Given the description of an element on the screen output the (x, y) to click on. 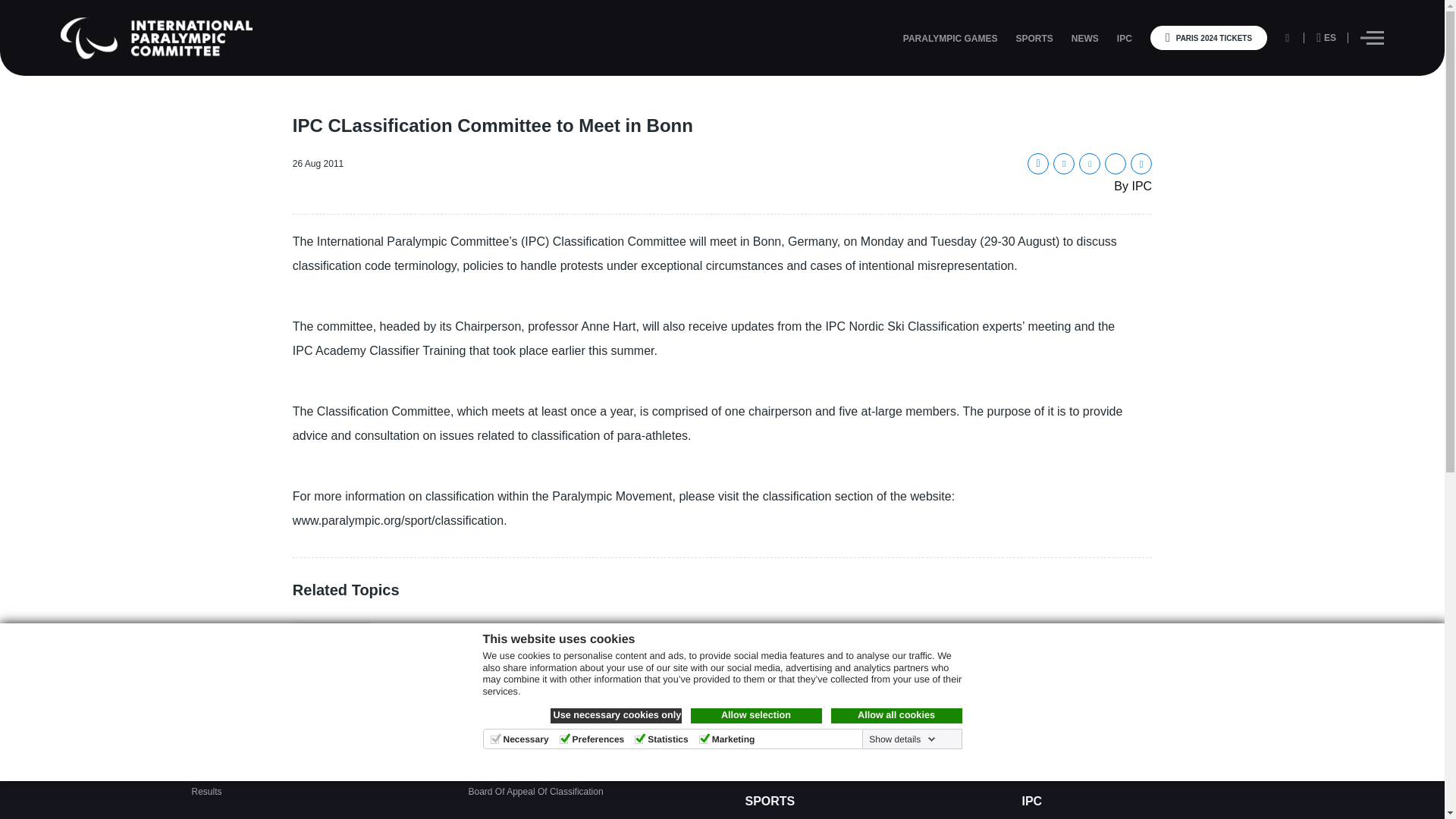
Allow selection (755, 715)
Use necessary cookies only (615, 715)
Show details (900, 739)
Allow all cookies (896, 715)
